Given the description of an element on the screen output the (x, y) to click on. 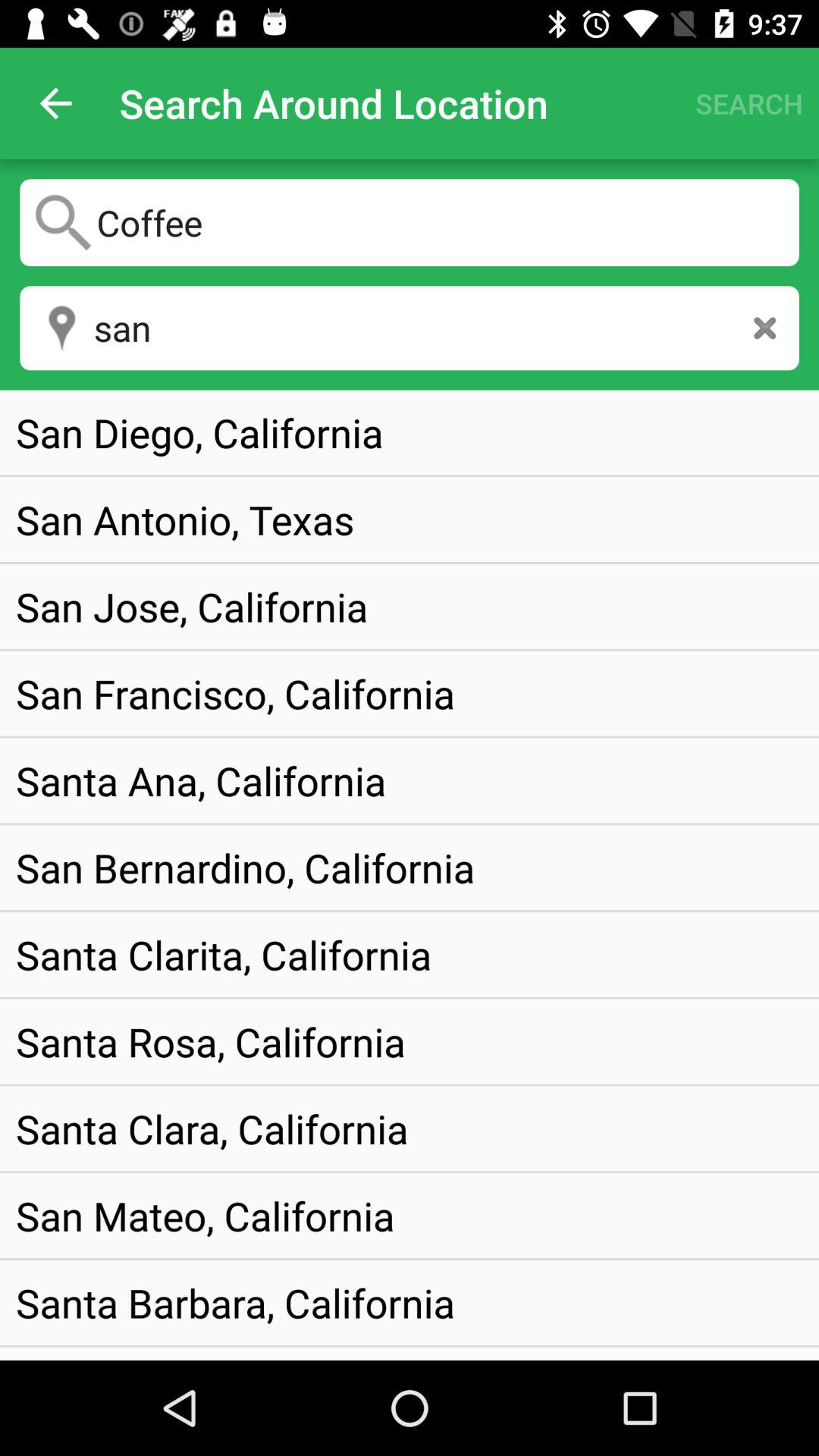
turn on icon below coffee item (764, 328)
